Given the description of an element on the screen output the (x, y) to click on. 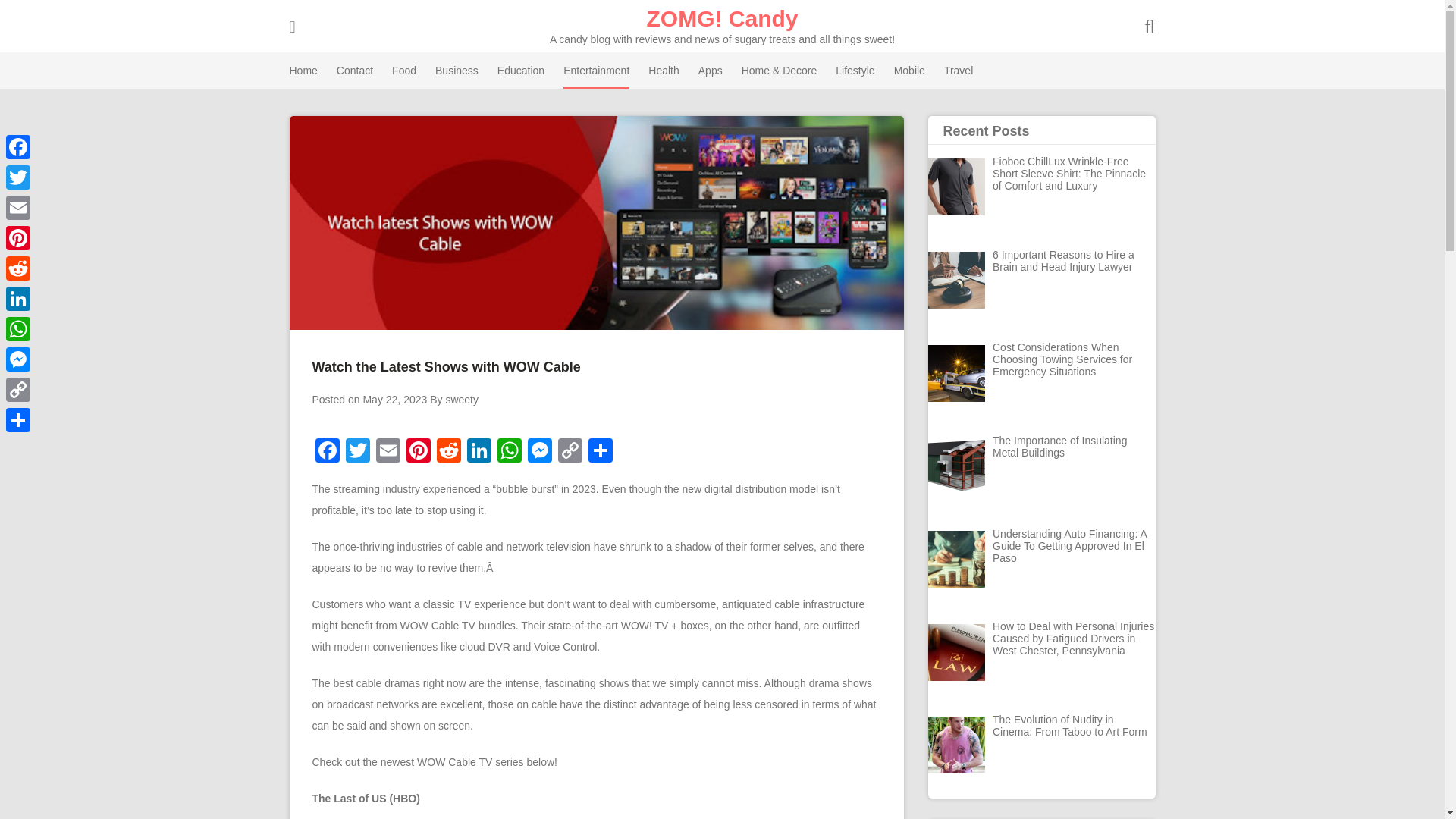
Facebook (327, 452)
Entertainment (595, 70)
Facebook (327, 452)
Email (387, 452)
Reddit (448, 452)
sweety (462, 399)
ZOMG! Candy (721, 18)
WhatsApp (509, 452)
Email (387, 452)
Business (457, 70)
Messenger (539, 452)
Lifestyle (855, 70)
LinkedIn (479, 452)
Reddit (448, 452)
LinkedIn (479, 452)
